Given the description of an element on the screen output the (x, y) to click on. 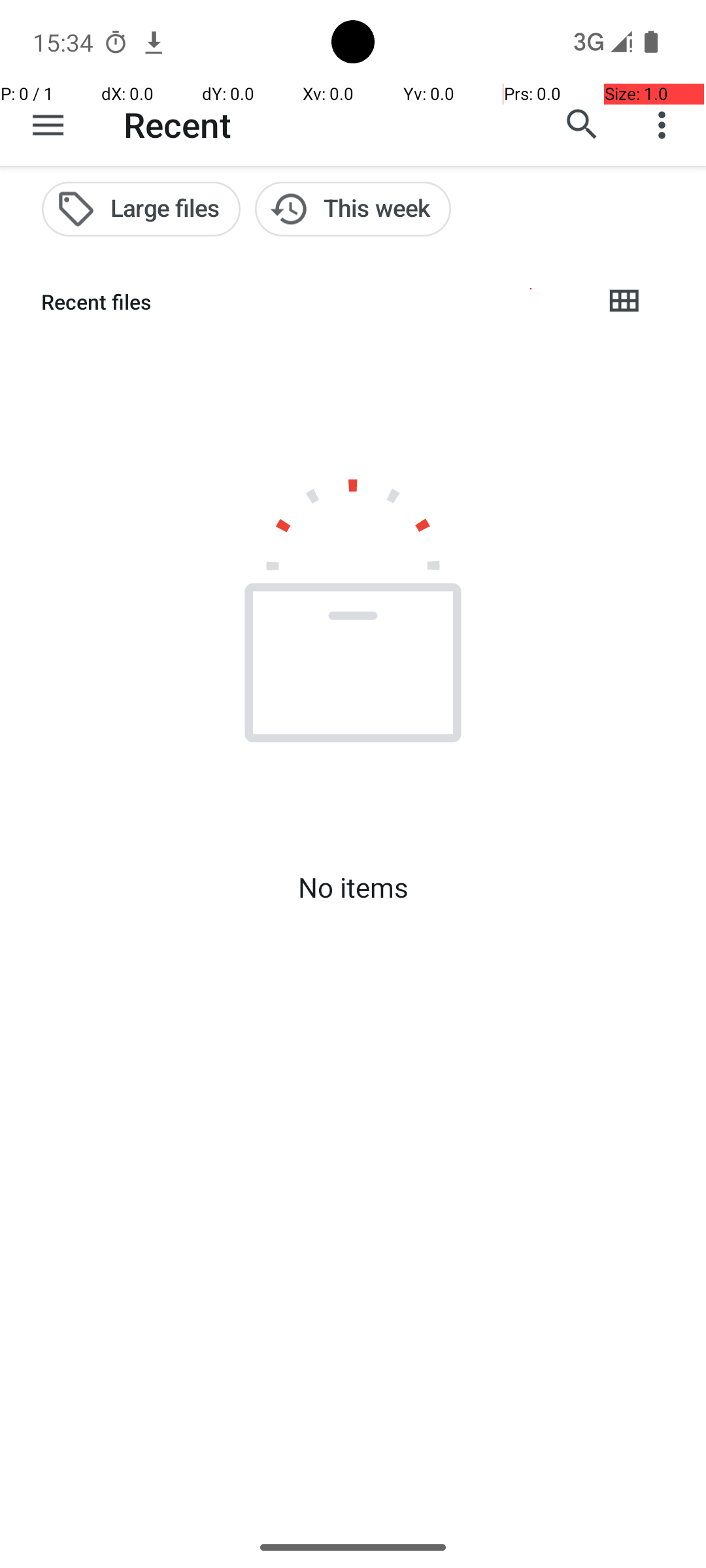
Chrome notification: www.espn.com Element type: android.widget.ImageView (153, 41)
